Given the description of an element on the screen output the (x, y) to click on. 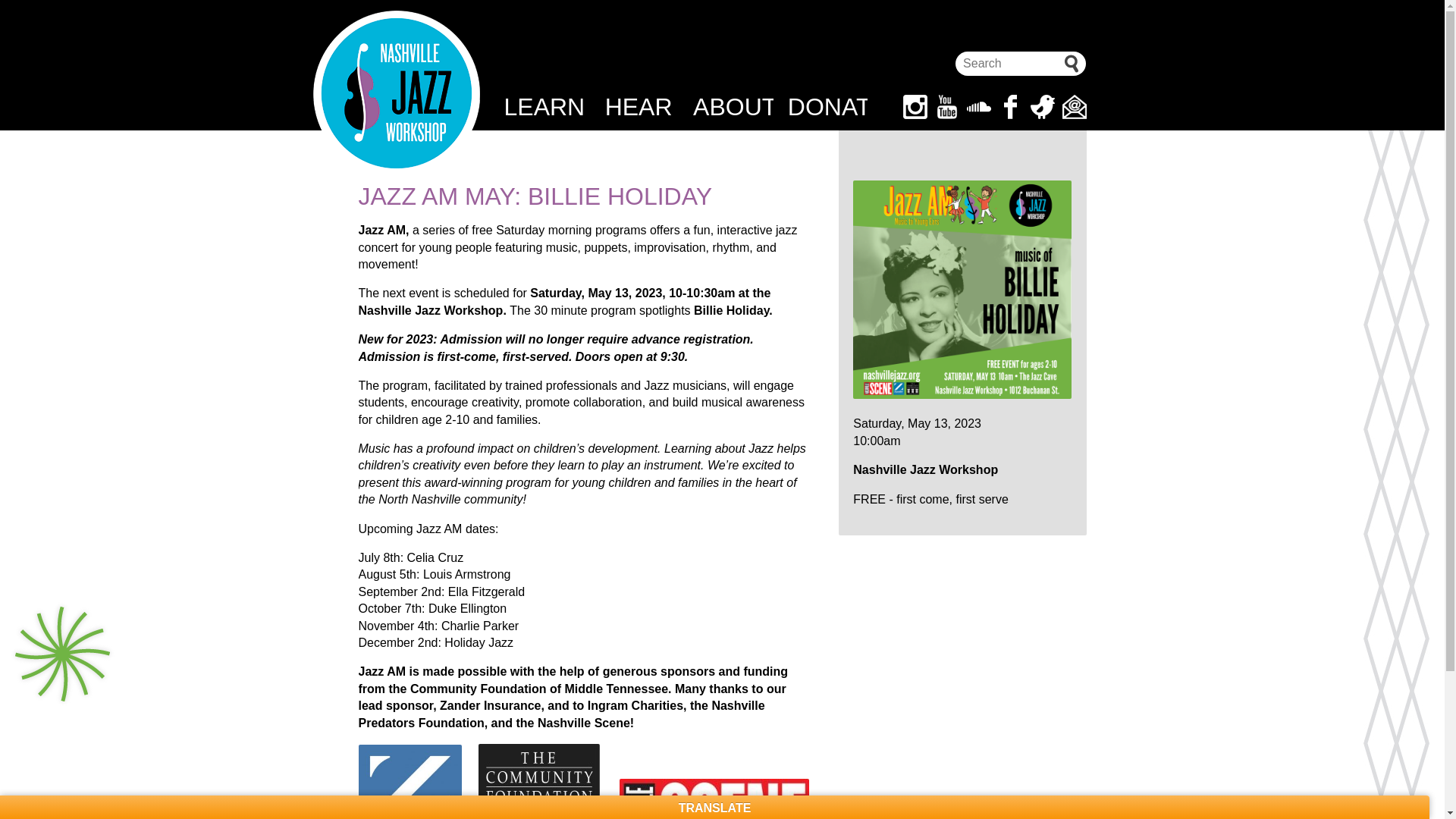
Soundcloud (978, 106)
Facebook (1009, 106)
Instagram (914, 106)
LEARN (543, 106)
Twitter (1041, 106)
HEAR (638, 106)
Youtube (946, 106)
DONATE (827, 106)
Nashville Jazz Workshop (396, 93)
ABOUT (733, 106)
